Given the description of an element on the screen output the (x, y) to click on. 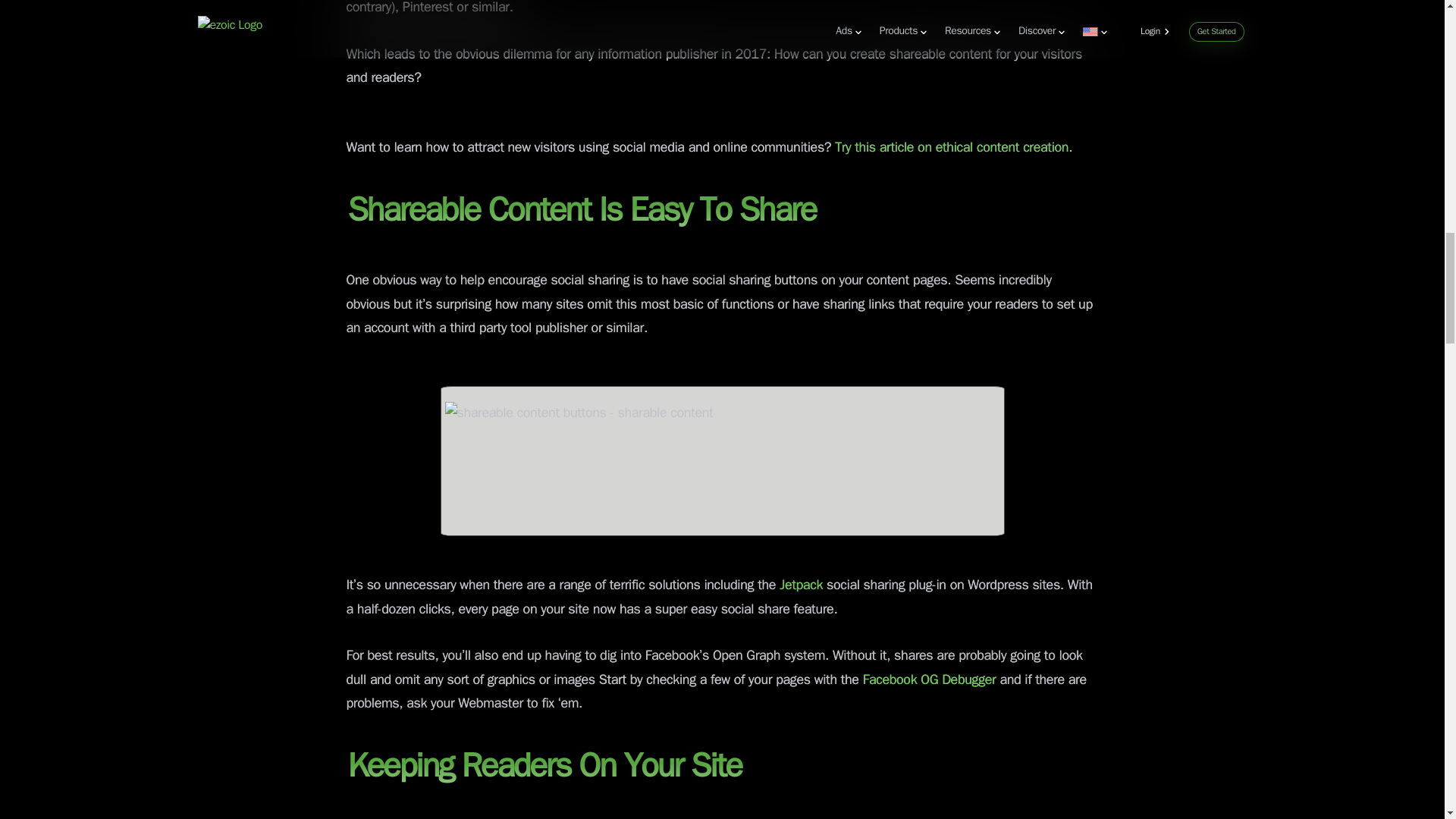
Facebook OG Debugger (929, 679)
Try this article on ethical content creation (951, 147)
Jetpack (800, 585)
